Given the description of an element on the screen output the (x, y) to click on. 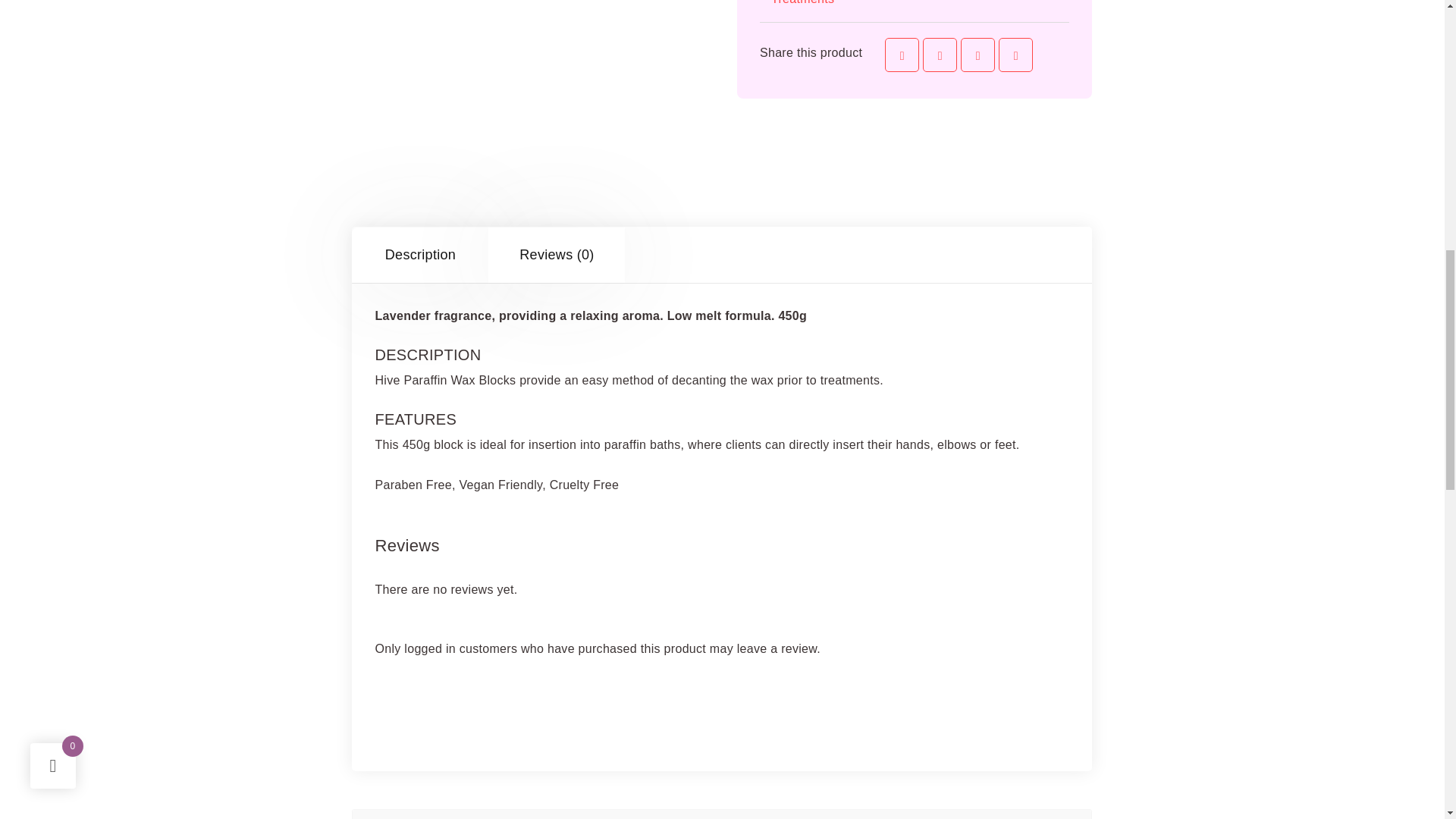
Paraffin Wax Treatments (886, 2)
Twitter (939, 54)
Facebook (901, 54)
Pinterest (977, 54)
